Given the description of an element on the screen output the (x, y) to click on. 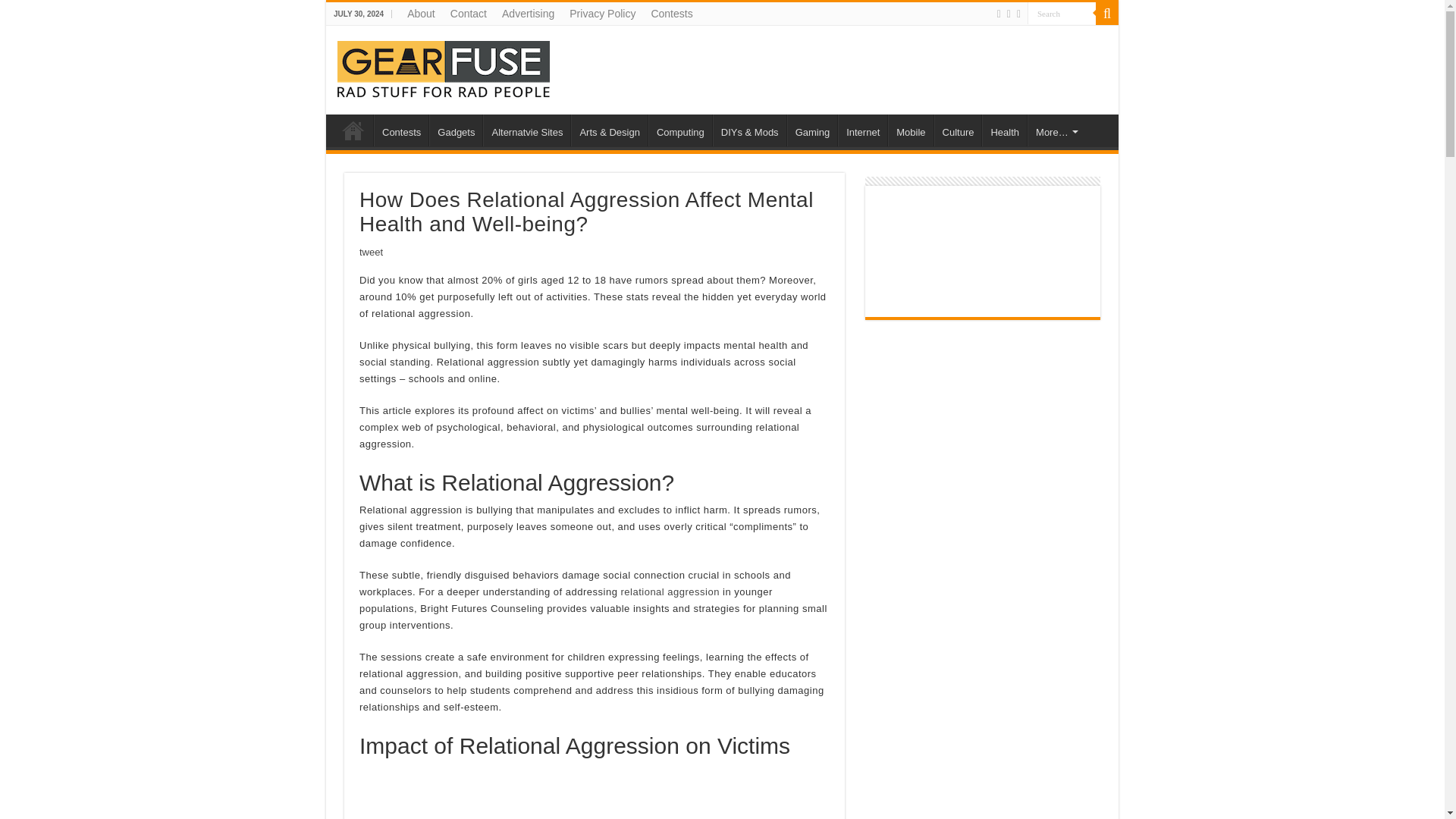
Culture (957, 130)
Contests (401, 130)
Internet (862, 130)
Search (1107, 13)
Gearfuse (443, 67)
Computing (679, 130)
Health (1003, 130)
Gadgets (455, 130)
Privacy Policy (602, 13)
Gaming (812, 130)
Contests (671, 13)
Search (1061, 13)
Advertising (528, 13)
About (420, 13)
Alternatvie Sites (526, 130)
